Given the description of an element on the screen output the (x, y) to click on. 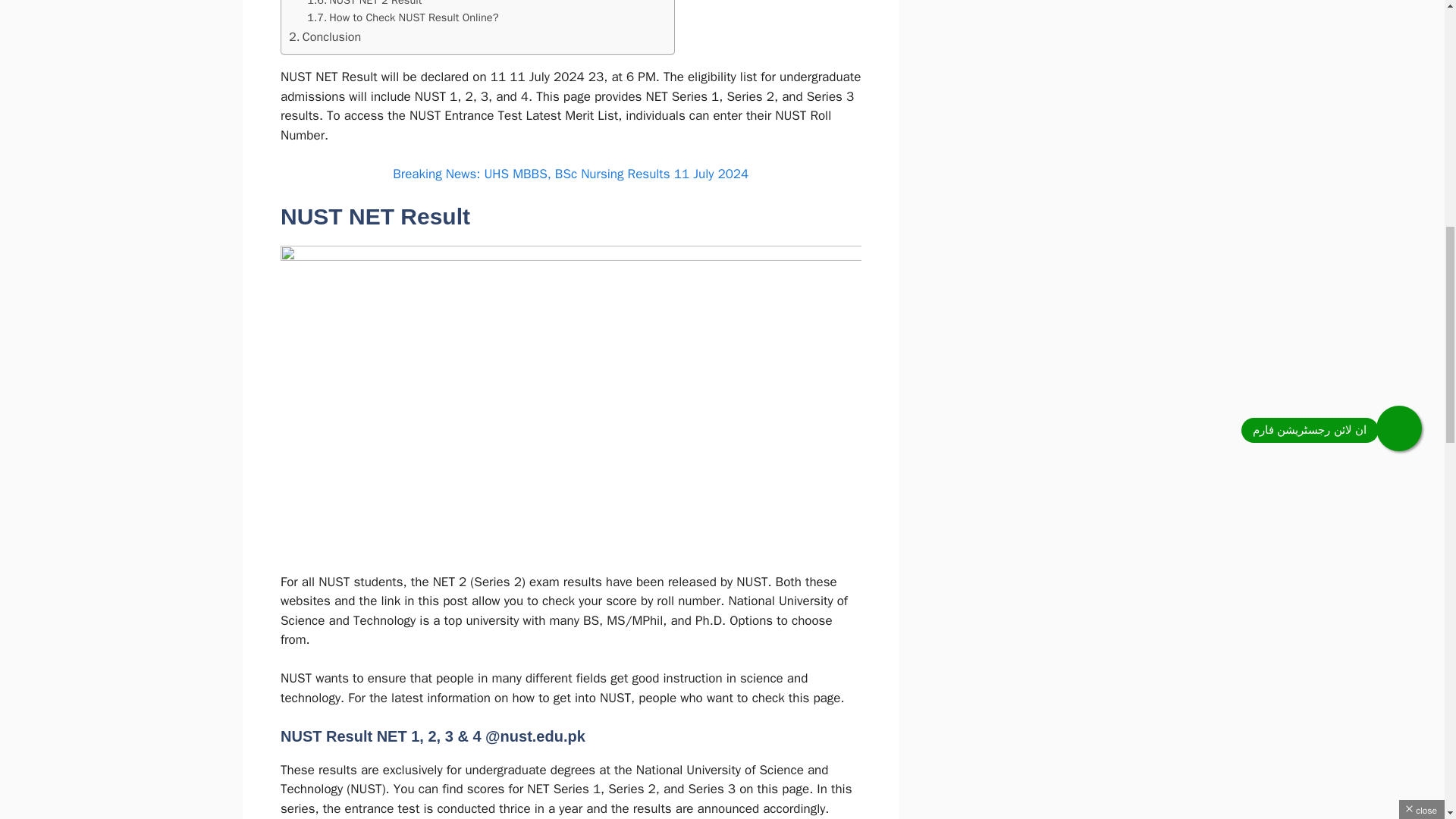
Breaking News: UHS MBBS, BSc Nursing Results 11 July 2024 (570, 173)
NUST NET 2 Result   (364, 4)
Conclusion (324, 36)
How to Check NUST Result Online? (402, 17)
Conclusion (324, 36)
How to Check NUST Result   Online? (402, 17)
NUST NET 2 Result (364, 4)
